Given the description of an element on the screen output the (x, y) to click on. 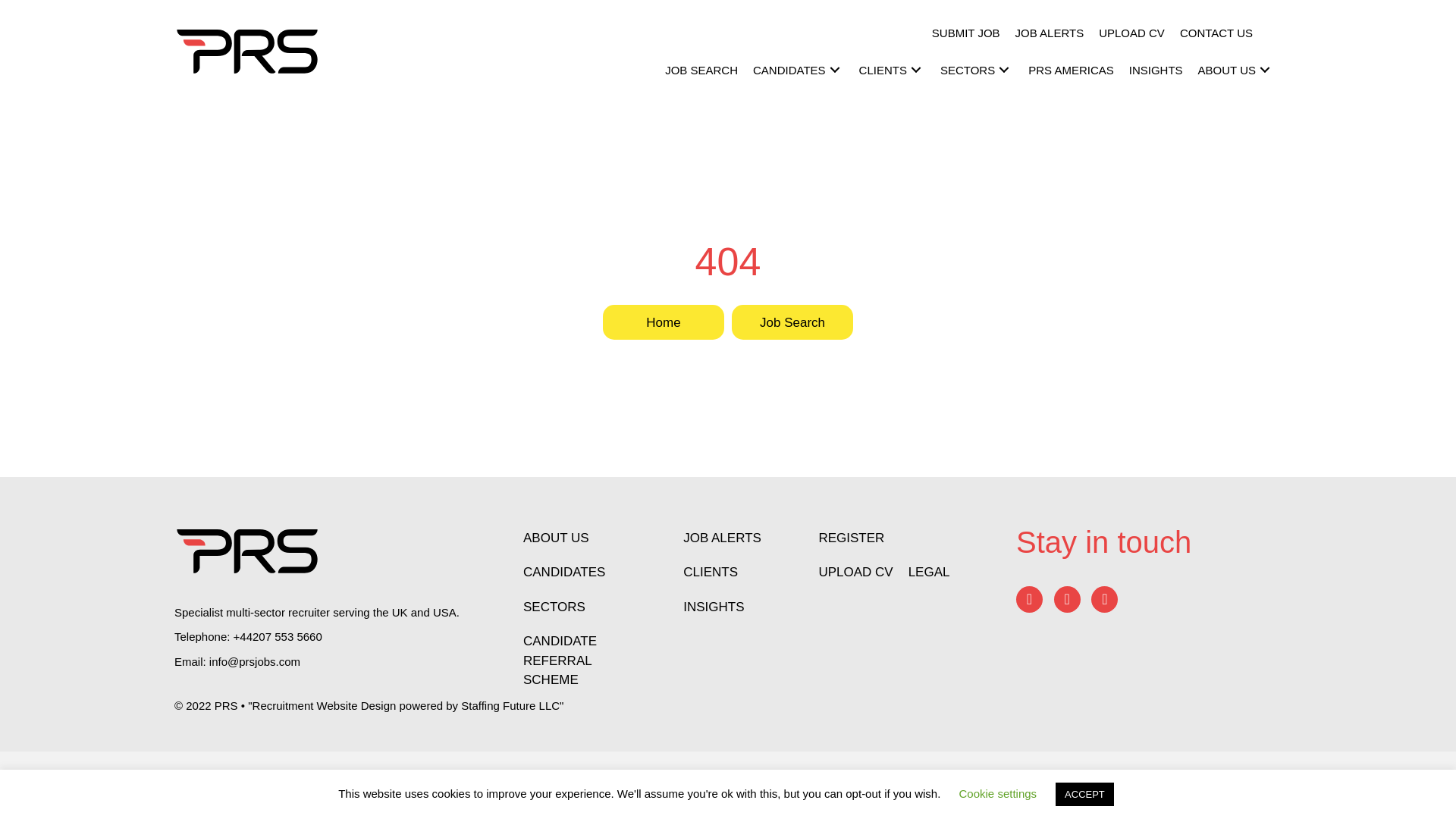
PRS logo (247, 551)
SUBMIT JOB (965, 32)
PRS logo (247, 51)
JOB ALERTS (1049, 32)
UPLOAD CV (1131, 32)
CONTACT US (1216, 32)
